Given the description of an element on the screen output the (x, y) to click on. 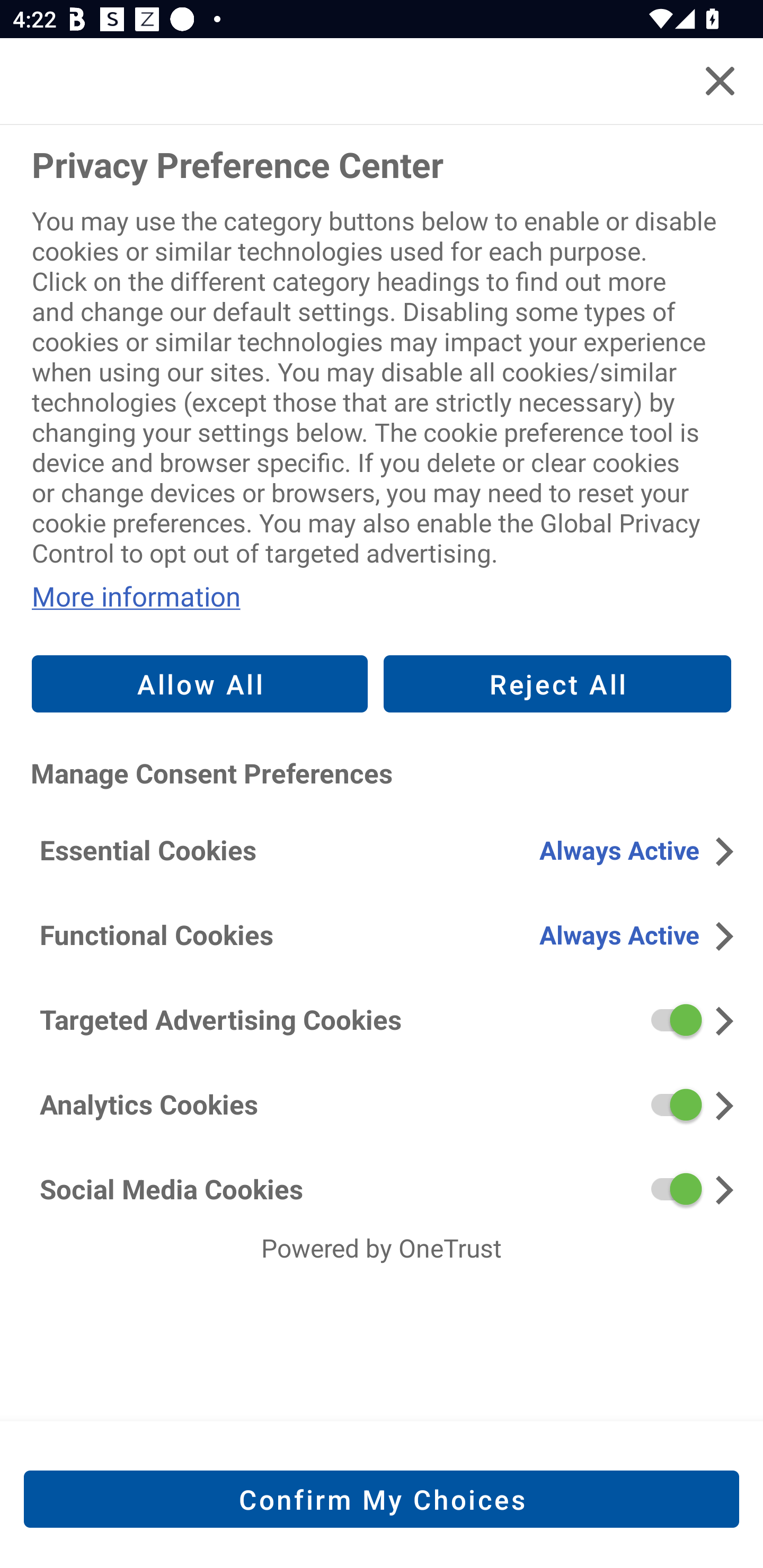
Close (719, 80)
More information (381, 596)
Allow All (199, 683)
Reject All (556, 683)
Essential Cookies Always Active (381, 849)
Functional Cookies Always Active (381, 934)
Targeted Advertising Cookies Consent (381, 1018)
Consent (669, 1019)
Analytics Cookies Consent (381, 1103)
Consent (669, 1104)
Social Media Cookies Consent (381, 1188)
Consent (669, 1188)
Confirm My Choices (381, 1498)
